Given the description of an element on the screen output the (x, y) to click on. 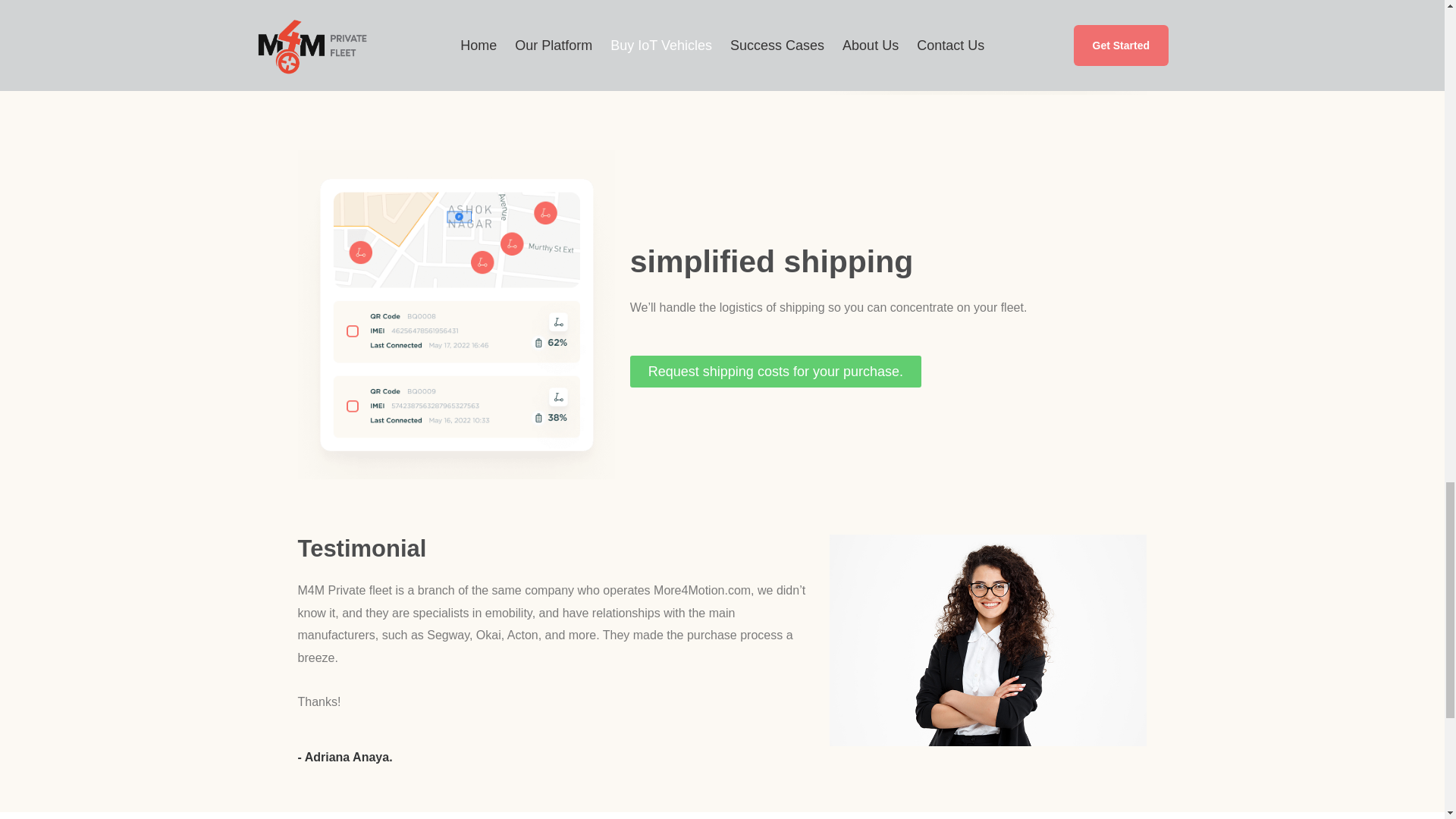
Request your quote (374, 12)
Request shipping costs for your purchase. (775, 371)
